Given the description of an element on the screen output the (x, y) to click on. 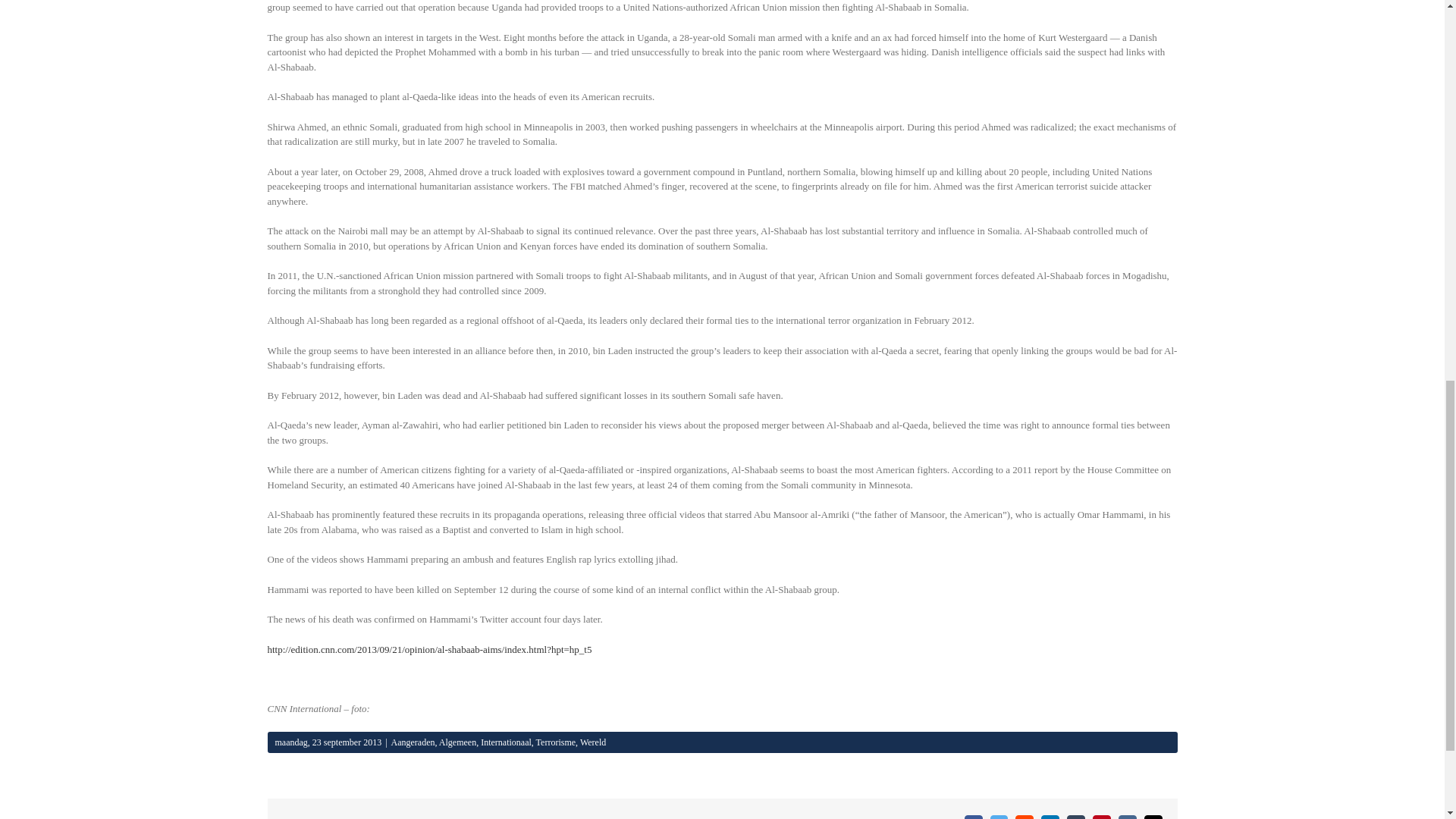
Pinterest (1101, 816)
Aangeraden (413, 742)
E-mail (1152, 816)
Twitter (999, 816)
Vk (1127, 816)
LinkedIn (1050, 816)
Facebook (972, 816)
Reddit (1023, 816)
Tumblr (1075, 816)
Algemeen (457, 742)
